Given the description of an element on the screen output the (x, y) to click on. 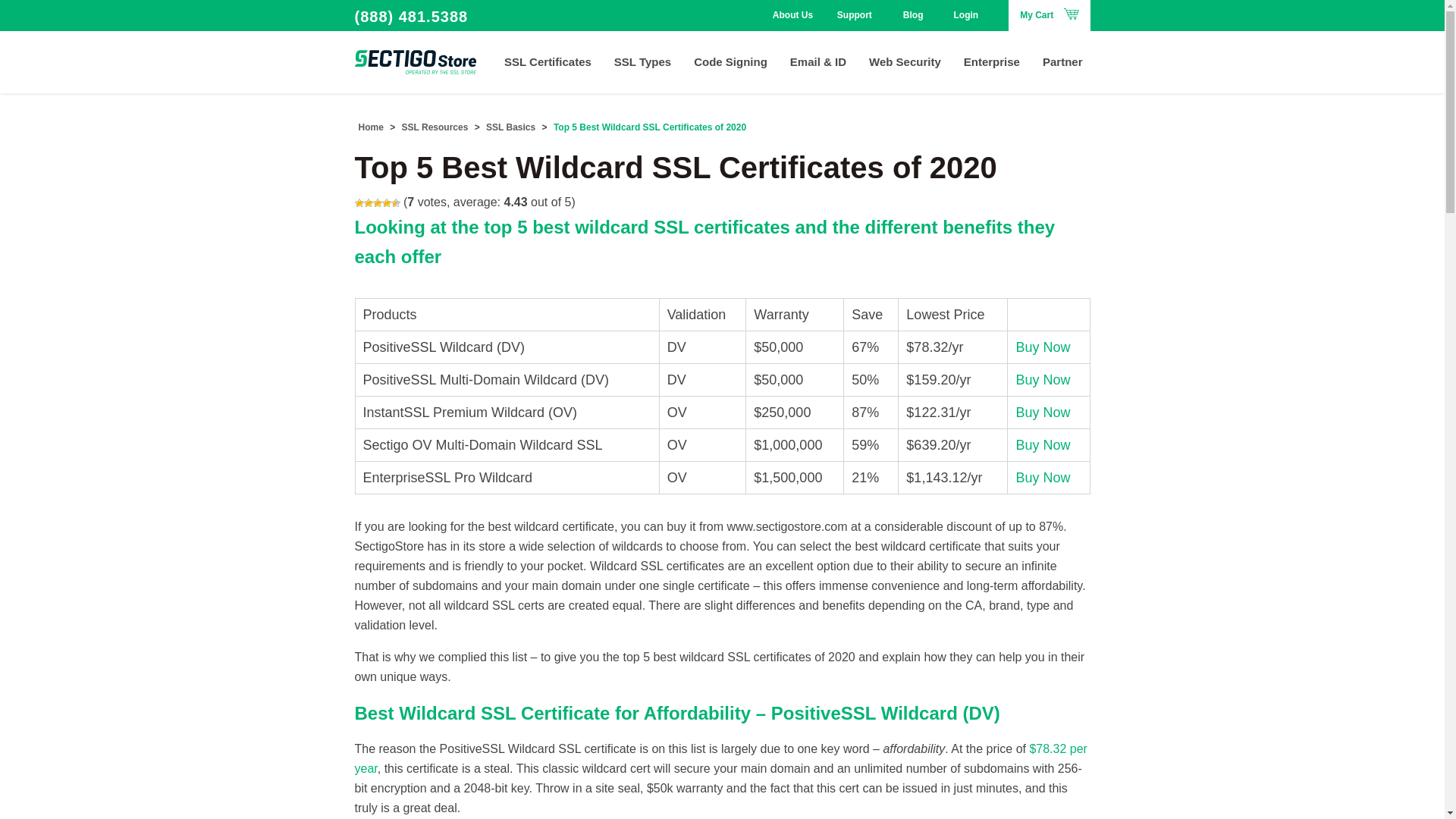
About Us (799, 15)
2 Stars (368, 203)
My Cart (1049, 15)
Support (863, 15)
3 Stars (376, 203)
Blog (913, 15)
1 Star (359, 203)
Login (966, 15)
5 Stars (395, 203)
SSL Certificates (547, 61)
4 Stars (386, 203)
